Given the description of an element on the screen output the (x, y) to click on. 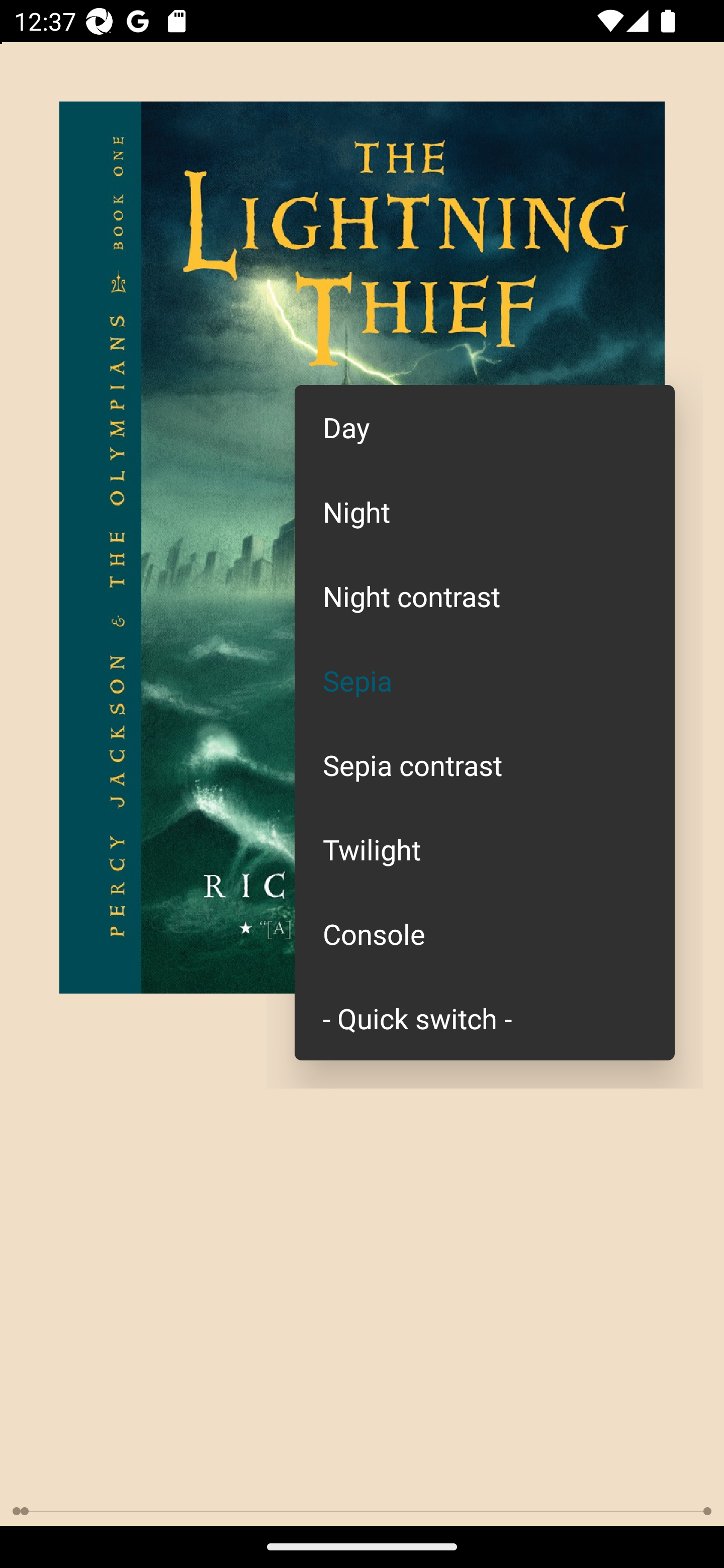
Day (484, 426)
Night (484, 510)
Night contrast (484, 595)
Sepia (484, 680)
Sepia contrast (484, 764)
Twilight (484, 849)
Console (484, 933)
- Quick switch - (484, 1017)
